Given the description of an element on the screen output the (x, y) to click on. 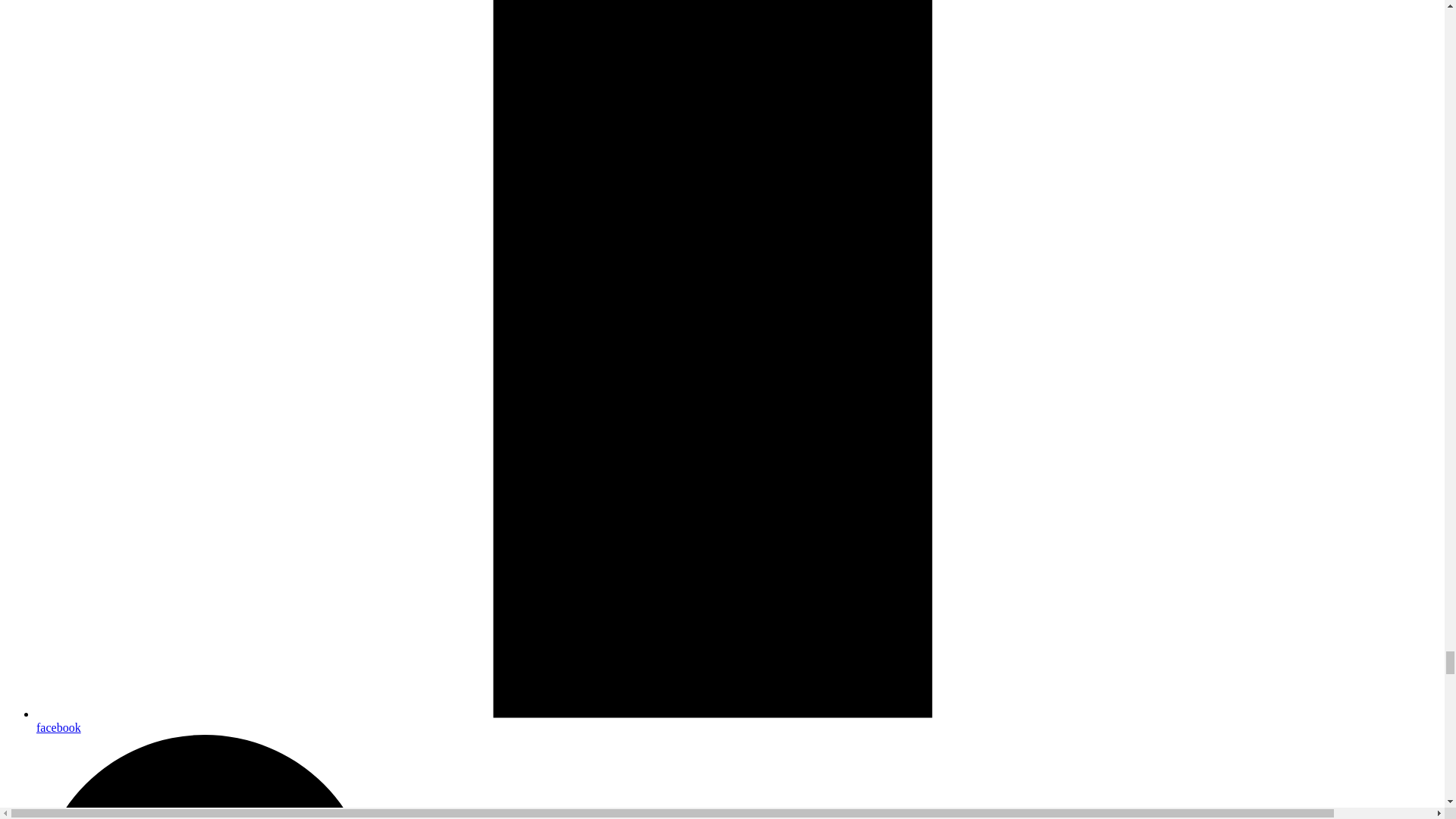
LinkedInLinkedIn Logo (737, 776)
facebook (737, 720)
